Given the description of an element on the screen output the (x, y) to click on. 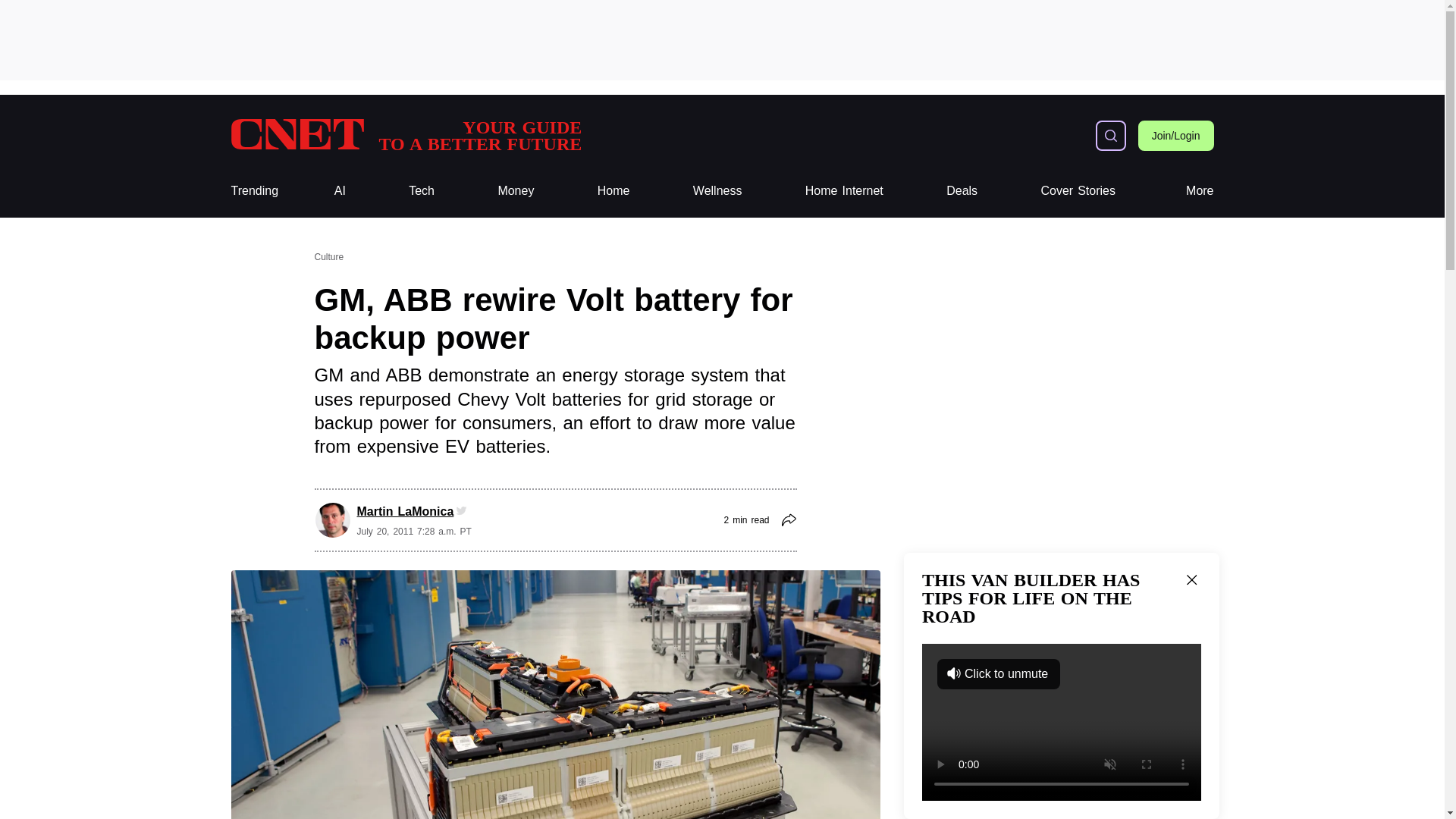
Money (515, 190)
Home Internet (844, 190)
3rd party ad content (721, 39)
Wellness (717, 190)
Tech (421, 190)
Home (613, 190)
Home (613, 190)
More (1199, 190)
Cover Stories (1078, 190)
Money (515, 190)
Wellness (717, 190)
Home Internet (405, 135)
Deals (844, 190)
Trending (961, 190)
